Given the description of an element on the screen output the (x, y) to click on. 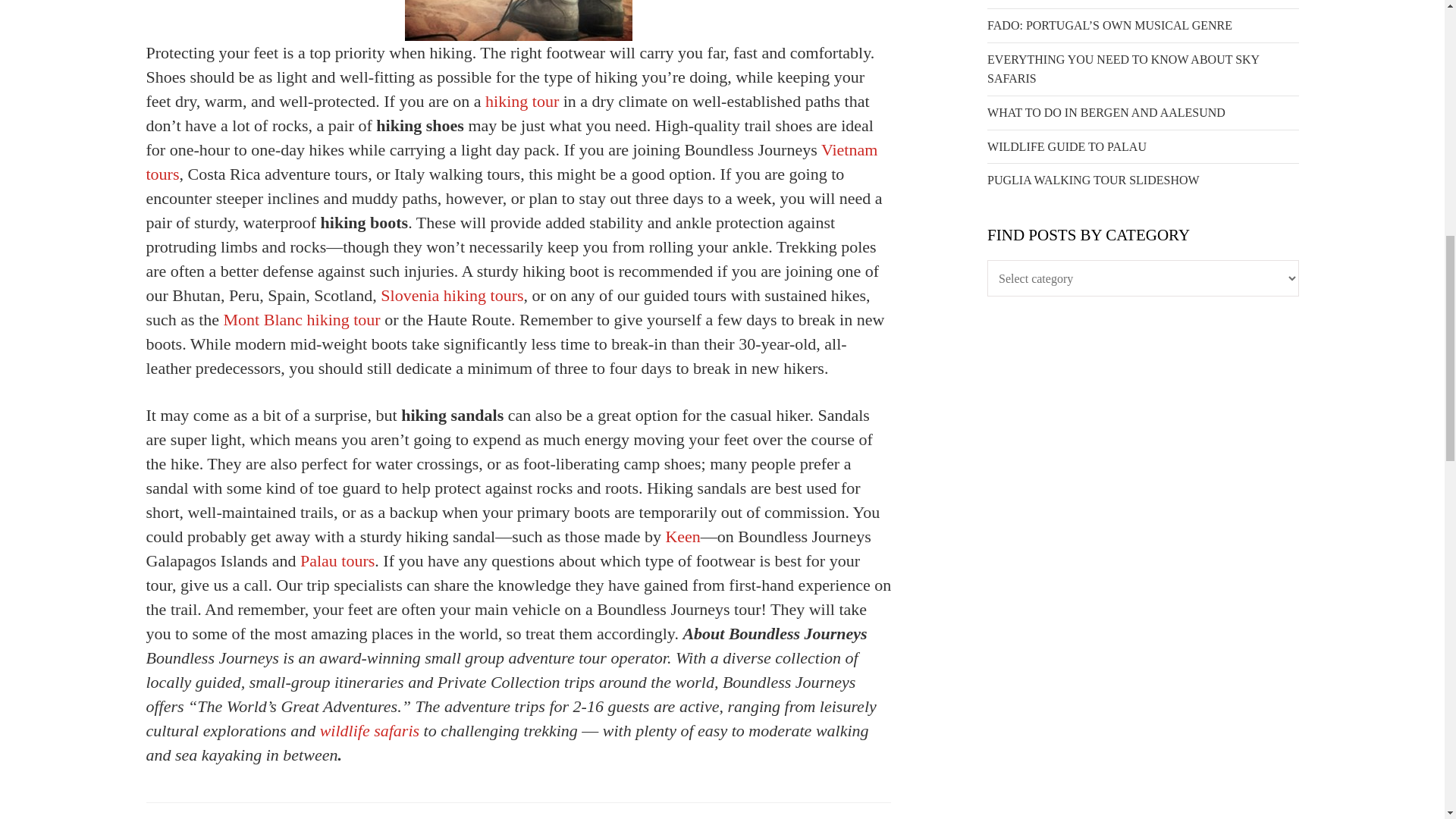
Keen (682, 536)
Palau (336, 560)
Vietnam (511, 161)
